Given the description of an element on the screen output the (x, y) to click on. 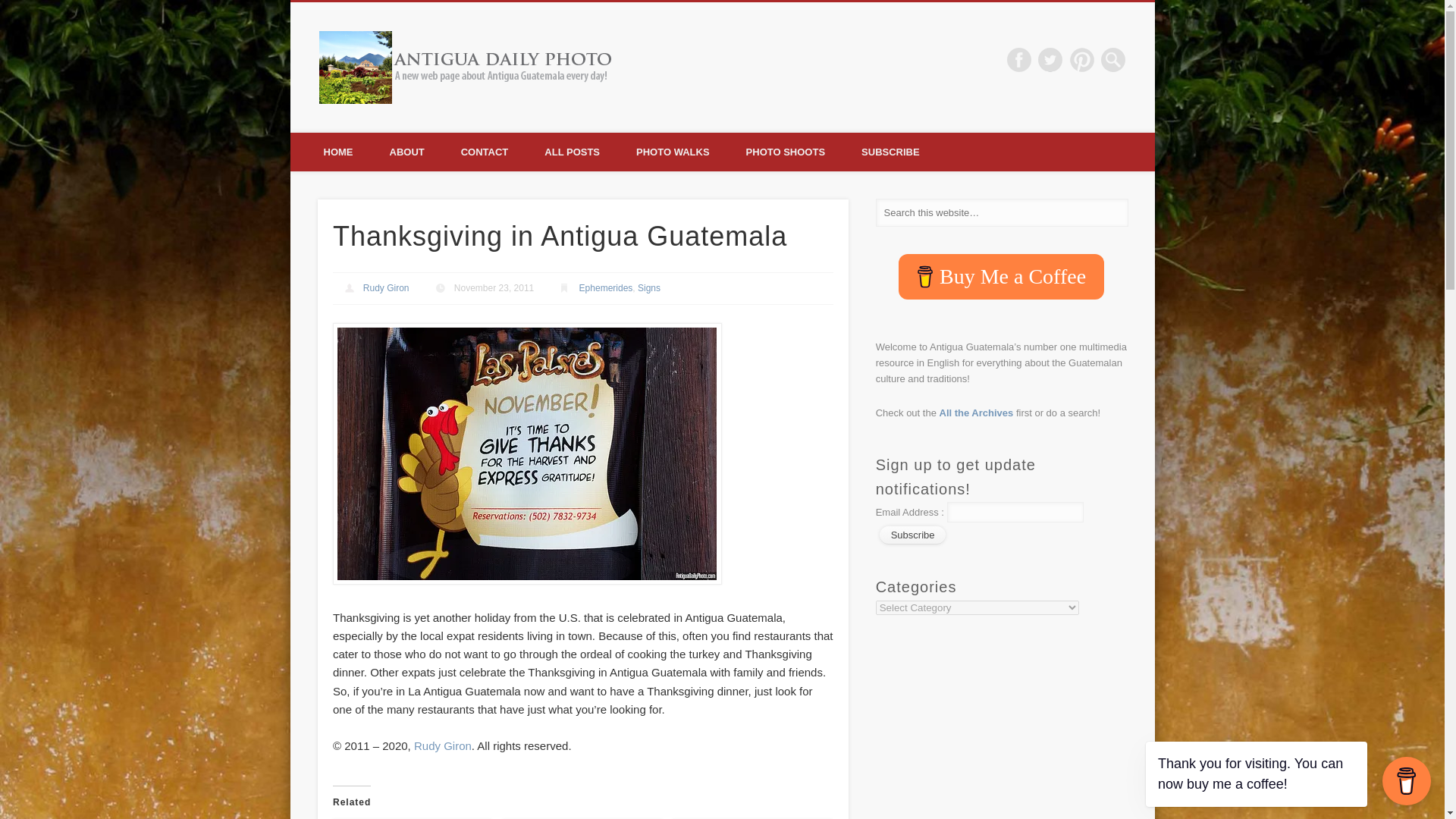
Pinterest (1082, 59)
All the Archives (976, 412)
ABOUT (406, 151)
ALL POSTS (571, 151)
Rudy Giron (385, 287)
PHOTO WALKS (672, 151)
Subscribe (912, 535)
AntiguaDailyPhoto.Com (752, 59)
Search (11, 7)
Twitter (1050, 59)
